Given the description of an element on the screen output the (x, y) to click on. 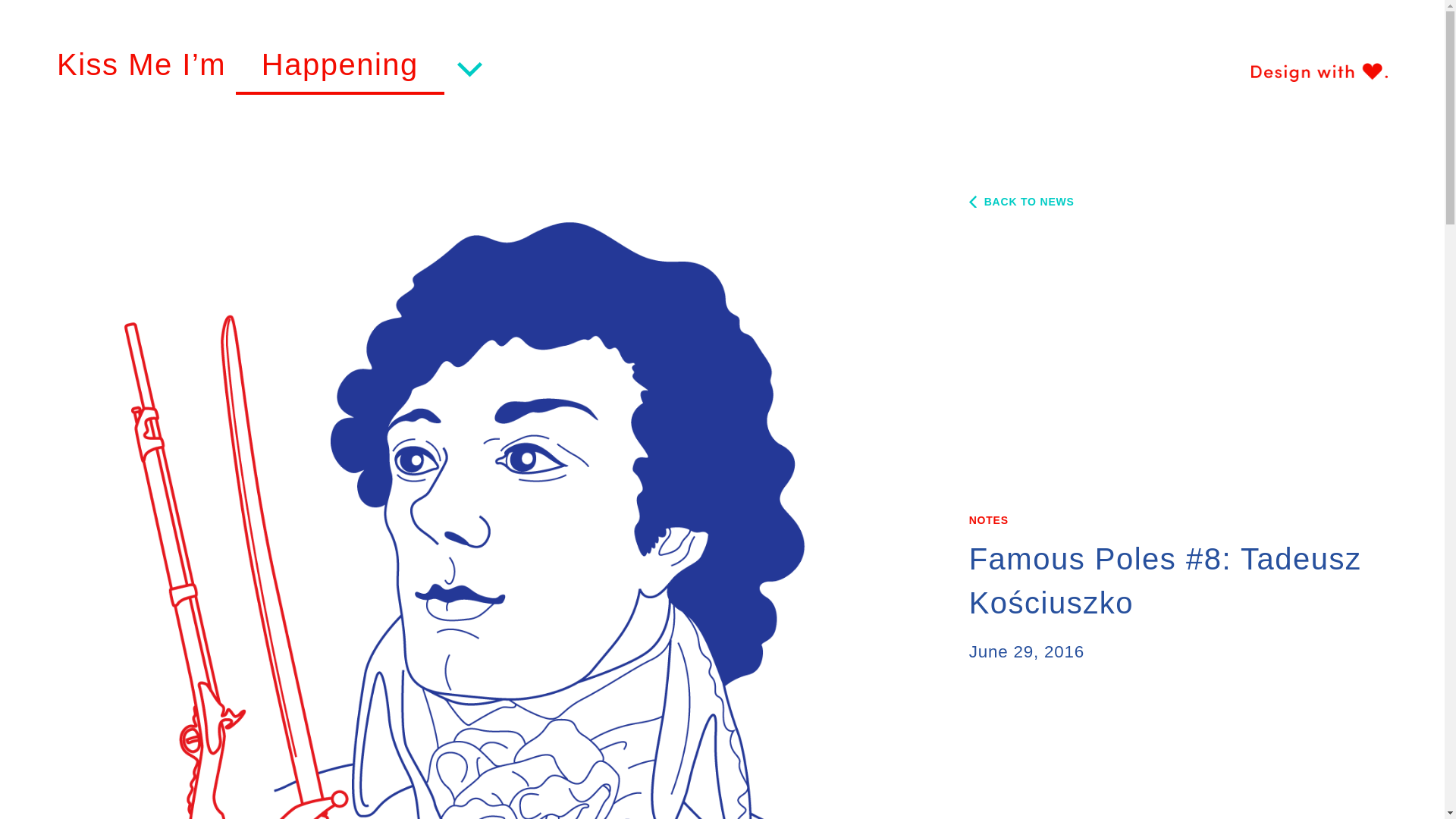
BACK TO NEWS (1021, 201)
